Given the description of an element on the screen output the (x, y) to click on. 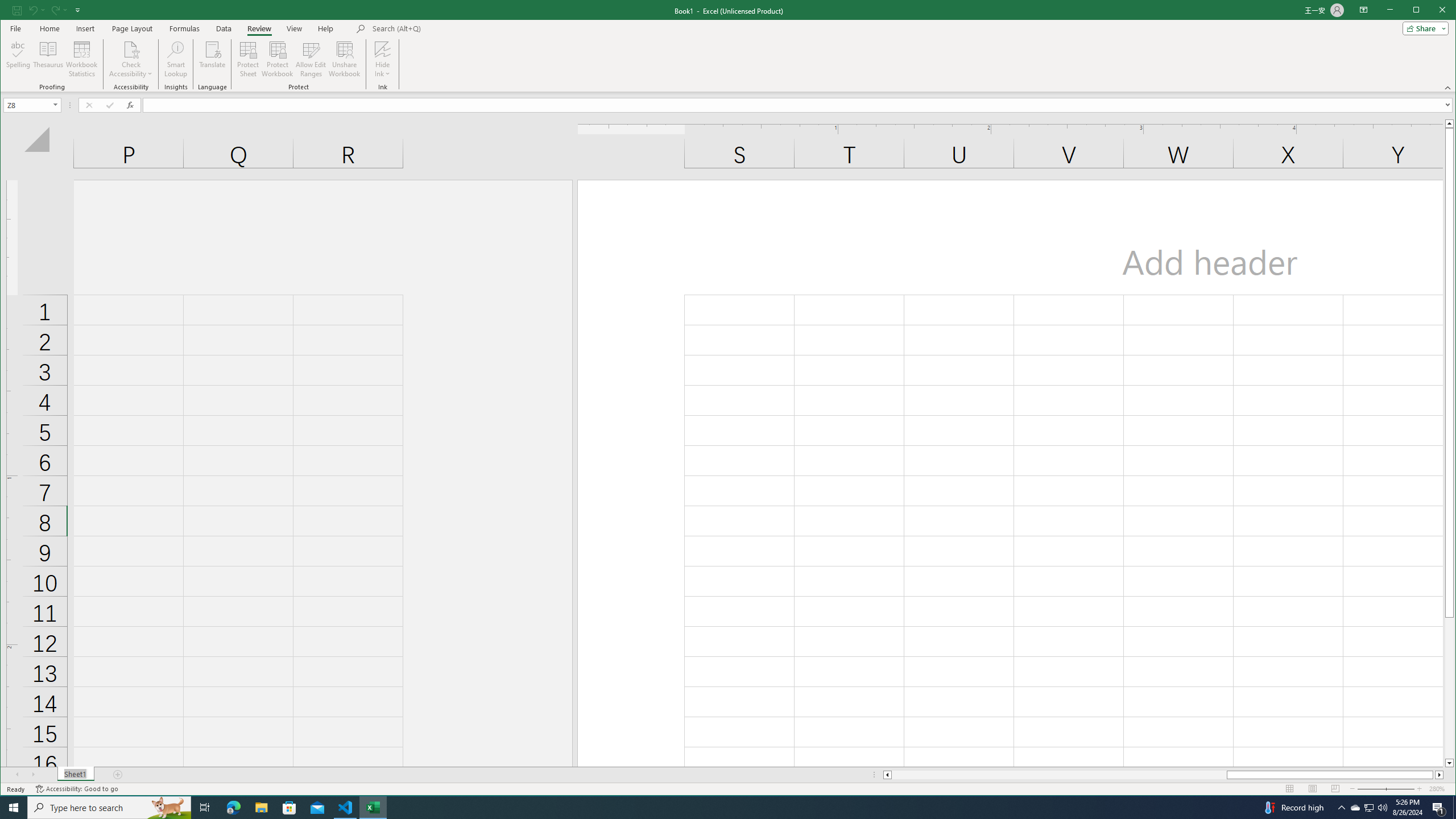
Unshare Workbook (344, 59)
